Given the description of an element on the screen output the (x, y) to click on. 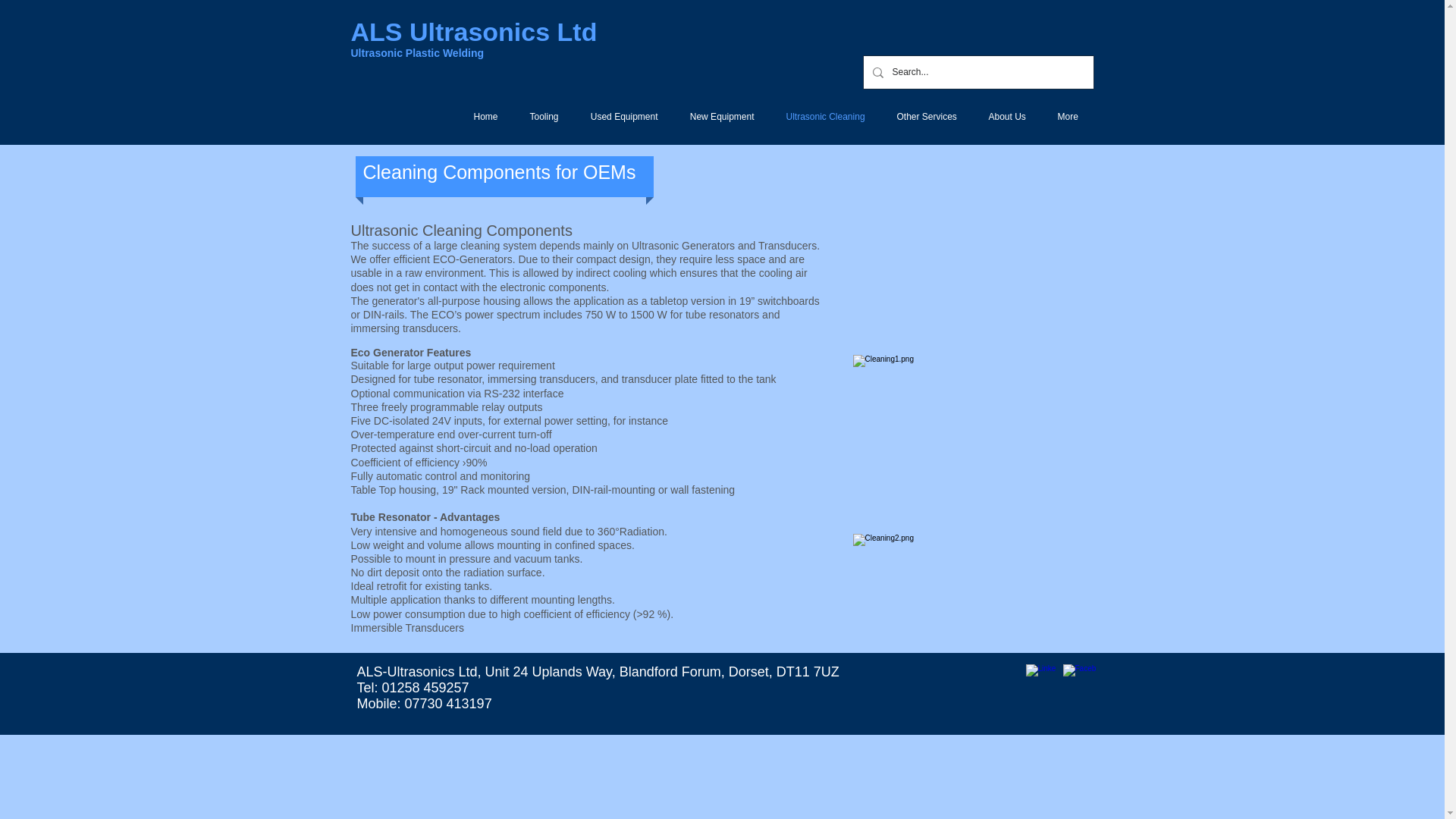
About Us (1006, 116)
Home (485, 116)
Tooling (544, 116)
New Equipment (721, 116)
Tube Resonator - Advantages (424, 517)
Ultrasonic Cleaning (825, 116)
